Given the description of an element on the screen output the (x, y) to click on. 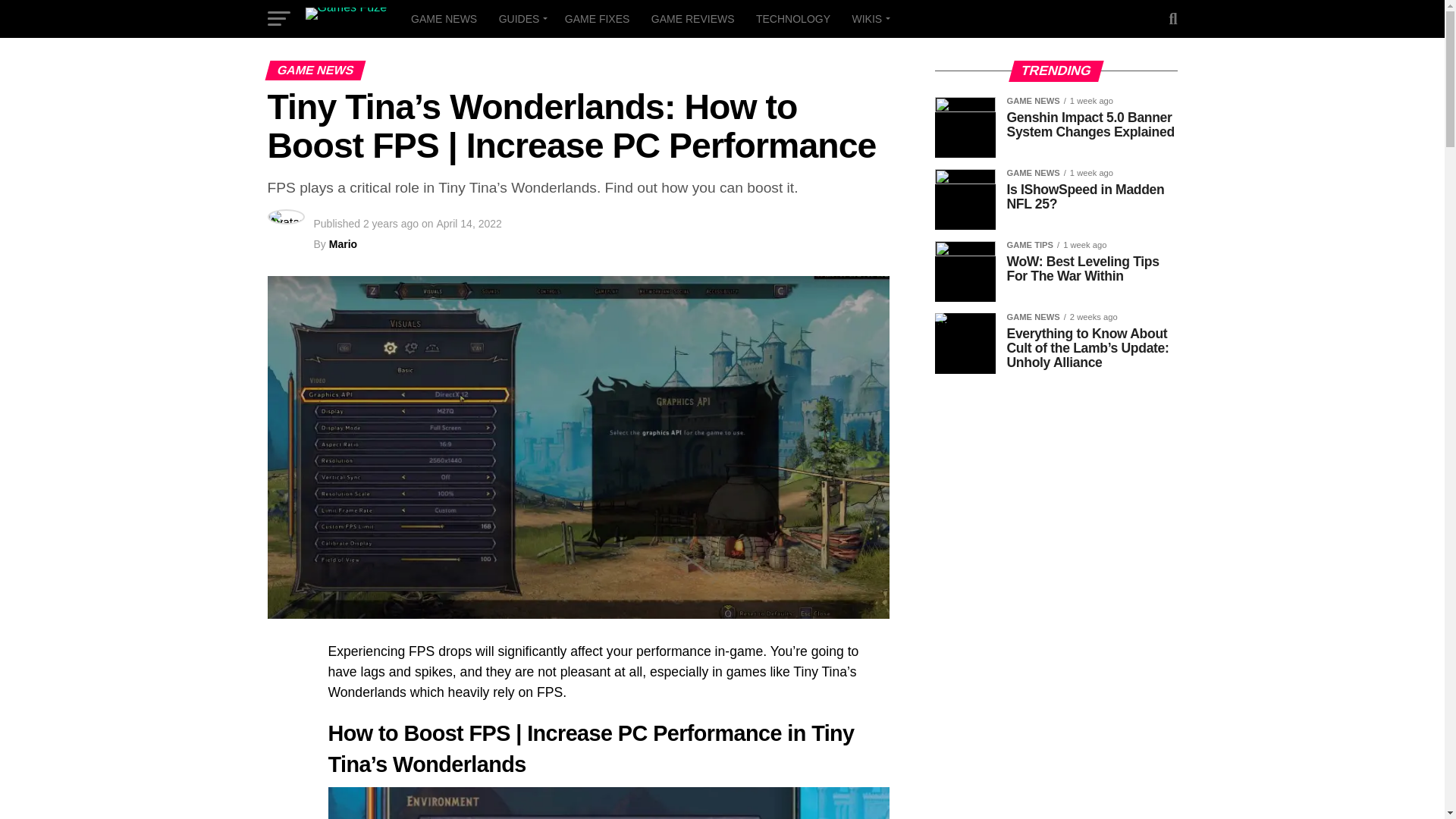
GAME REVIEWS (693, 18)
TECHNOLOGY (793, 18)
Mario (342, 244)
GAME FIXES (597, 18)
GAME NEWS (443, 18)
GUIDES (521, 18)
WIKIS (869, 18)
Posts by Mario (342, 244)
